Given the description of an element on the screen output the (x, y) to click on. 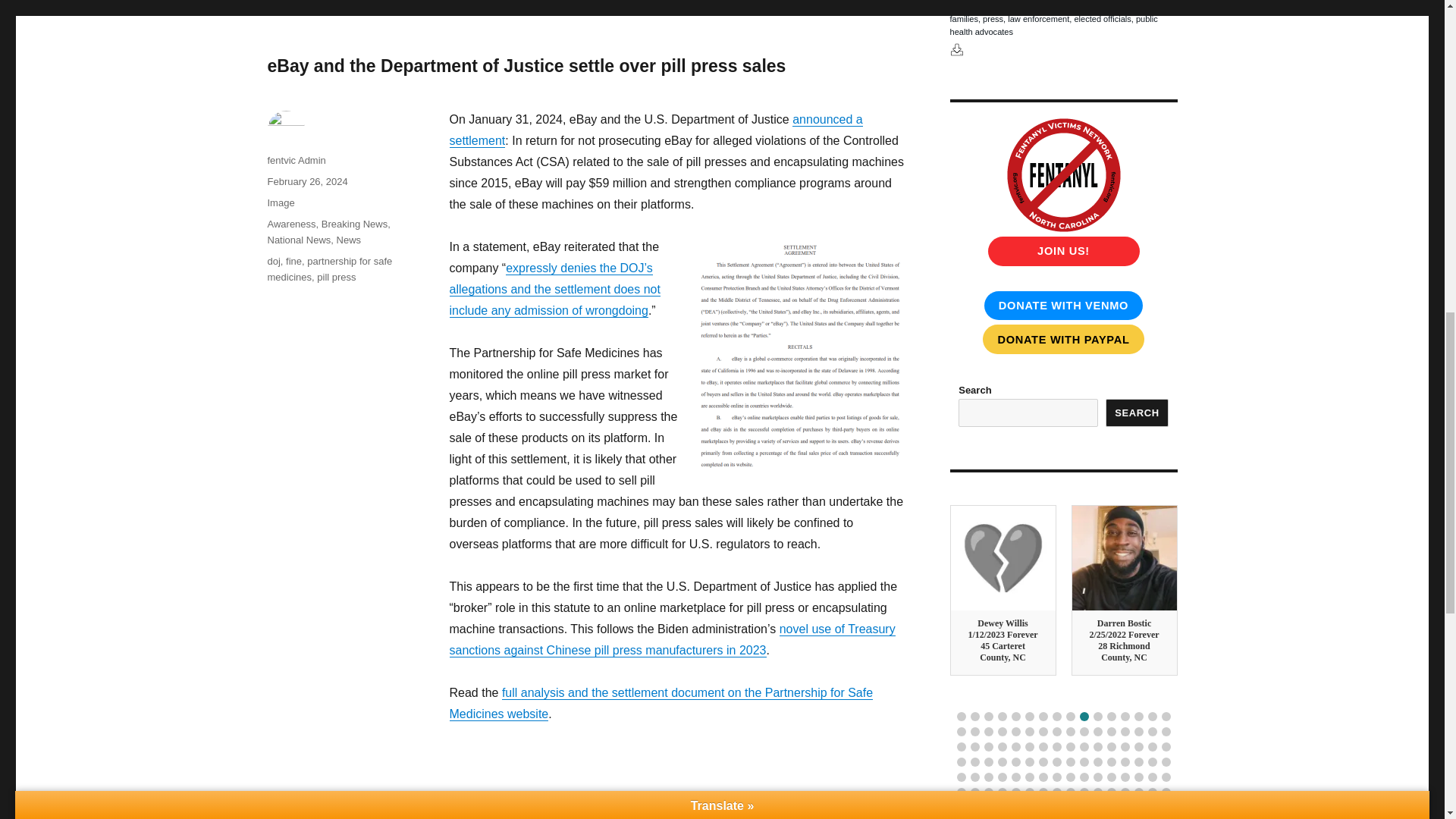
Save to your calendar (956, 49)
